Given the description of an element on the screen output the (x, y) to click on. 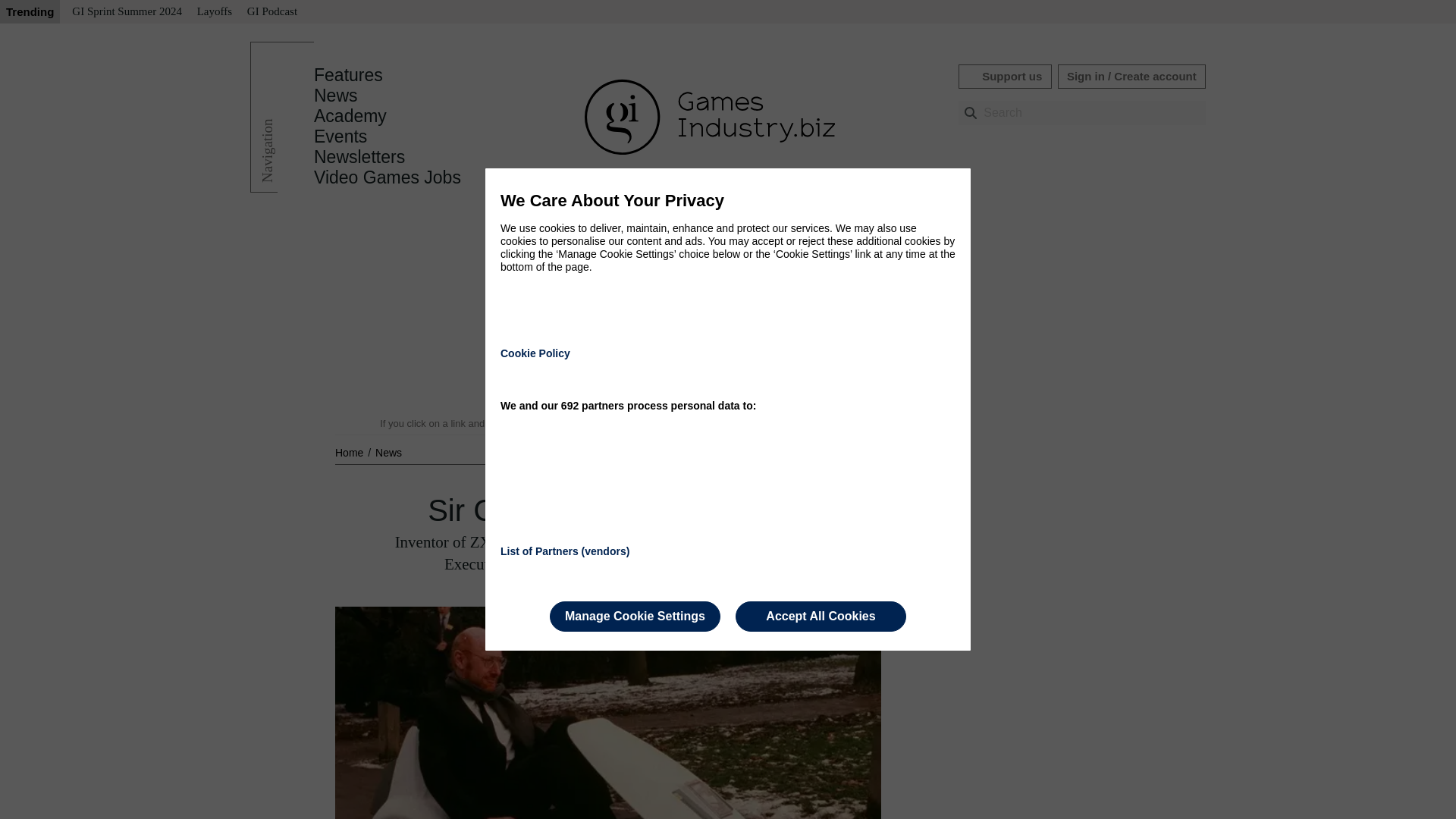
Layoffs (214, 11)
Read our editorial policy (781, 423)
GI Sprint Summer 2024 (126, 11)
Newsletters (359, 157)
Events (340, 136)
Layoffs (214, 11)
Video Games Jobs (387, 177)
Home (350, 452)
Video Games Jobs (387, 177)
News (388, 452)
Academy (350, 116)
Home (350, 452)
GI Podcast (271, 11)
News (388, 452)
Events (340, 136)
